Given the description of an element on the screen output the (x, y) to click on. 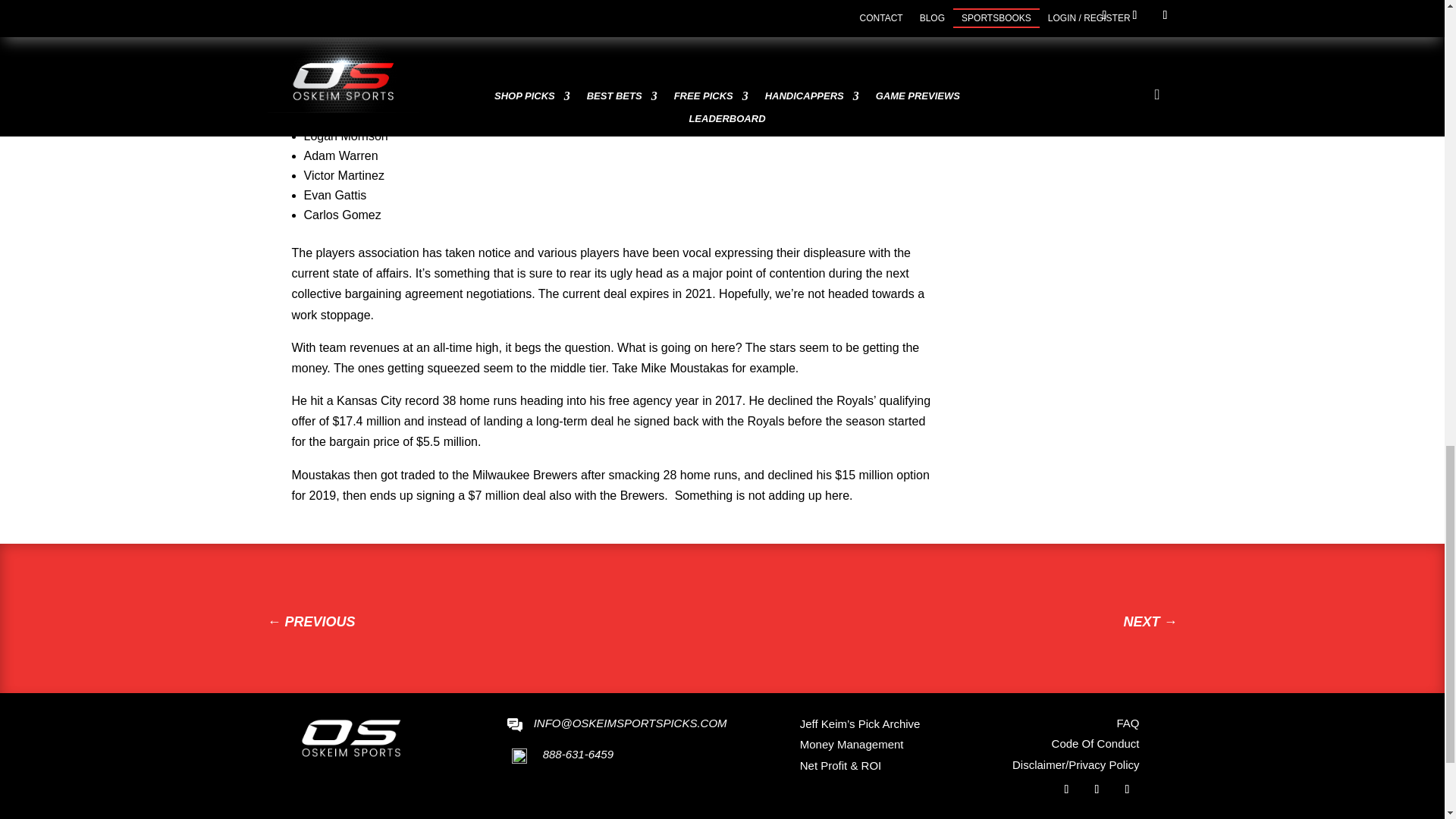
Follow on Instagram (1126, 789)
Follow on Facebook (1066, 789)
Follow on X (1096, 789)
